Given the description of an element on the screen output the (x, y) to click on. 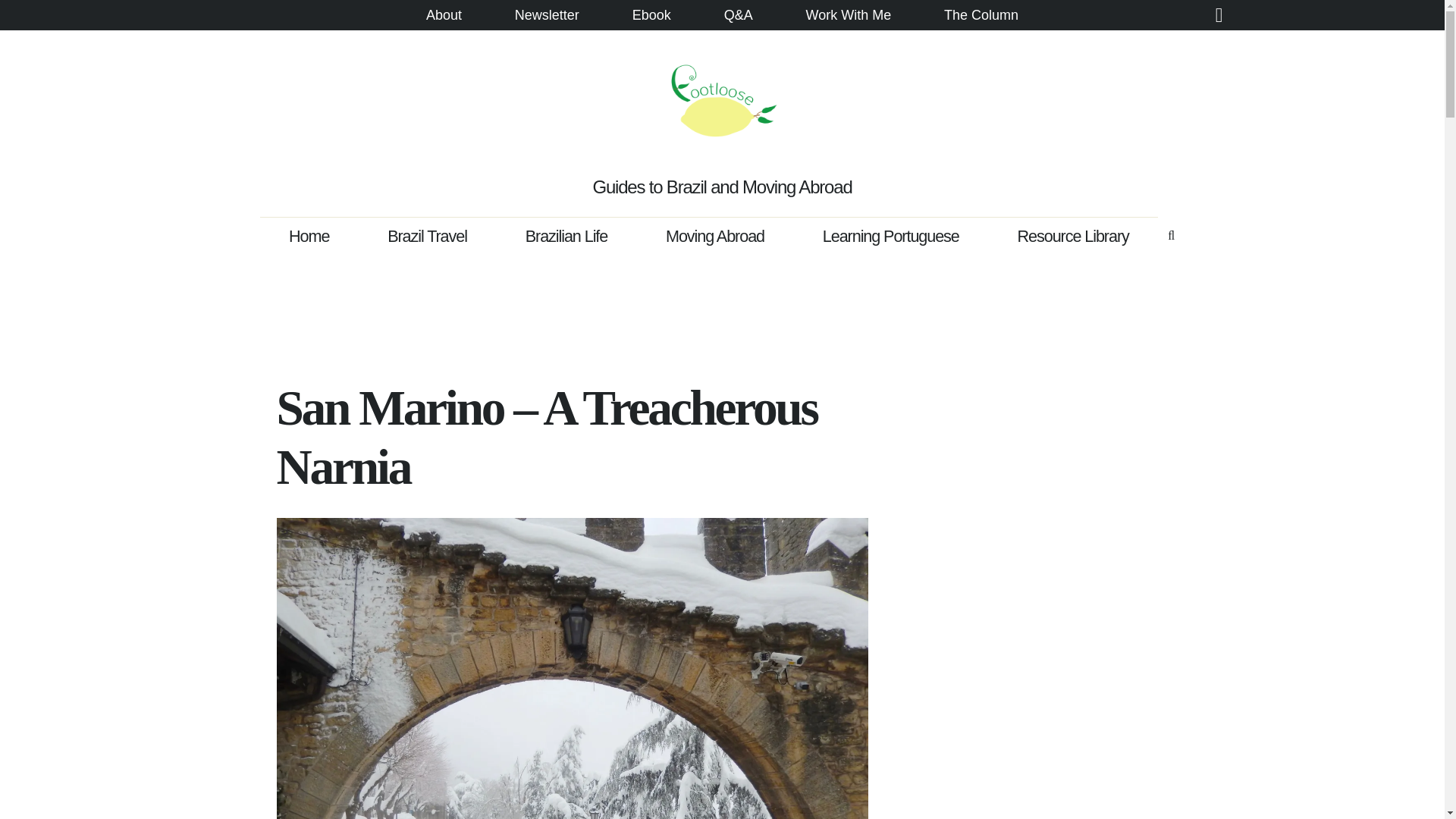
About (443, 17)
Resource Library (1072, 235)
Home (309, 235)
The Column (980, 17)
Learning Portuguese (890, 235)
Brazilian Life (566, 235)
Moving Abroad (715, 235)
Newsletter (546, 17)
Ebook (651, 17)
Work With Me (848, 17)
Brazil Travel (427, 235)
